Given the description of an element on the screen output the (x, y) to click on. 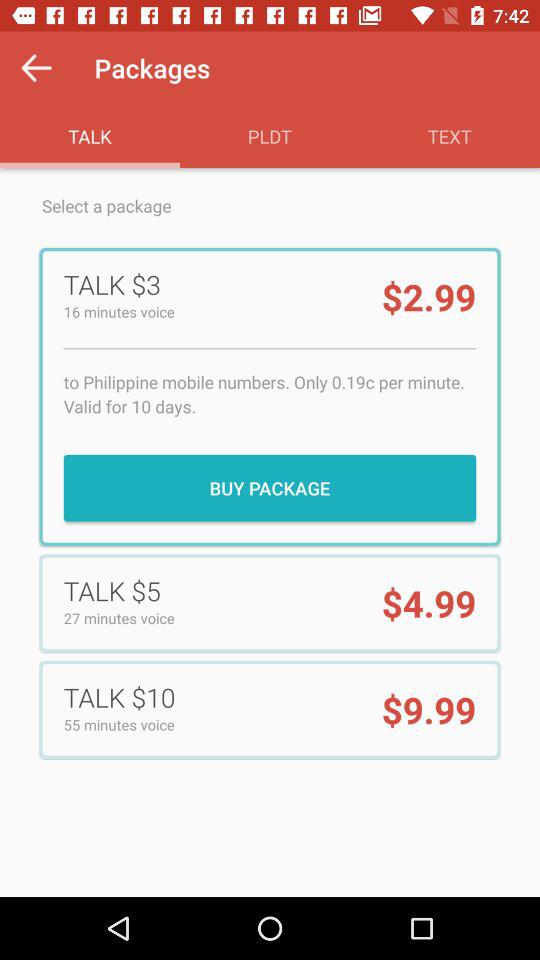
click icon next to the packages icon (36, 68)
